Given the description of an element on the screen output the (x, y) to click on. 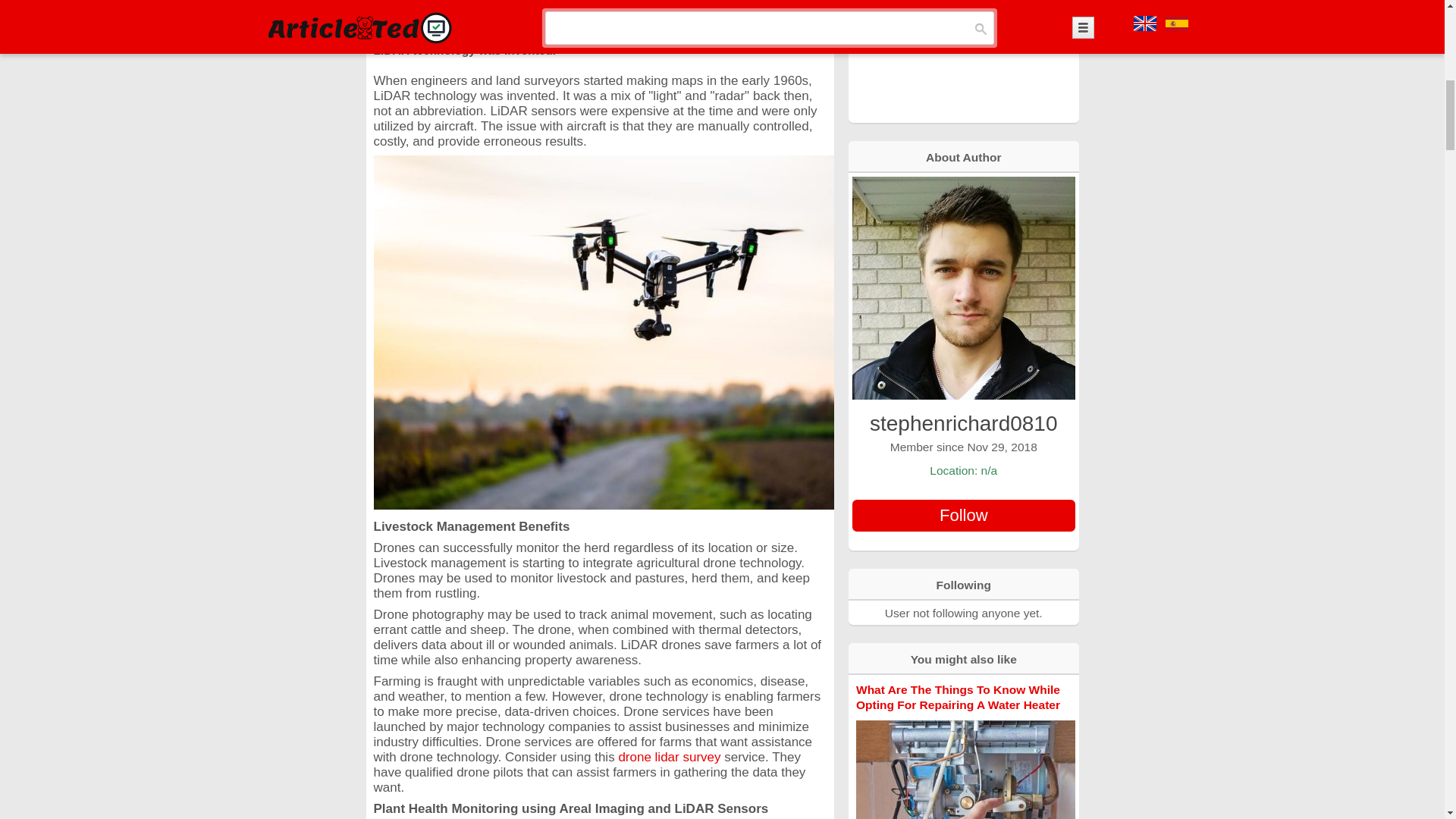
Advertisement (963, 60)
Follow (963, 515)
drone lidar survey (668, 757)
